Given the description of an element on the screen output the (x, y) to click on. 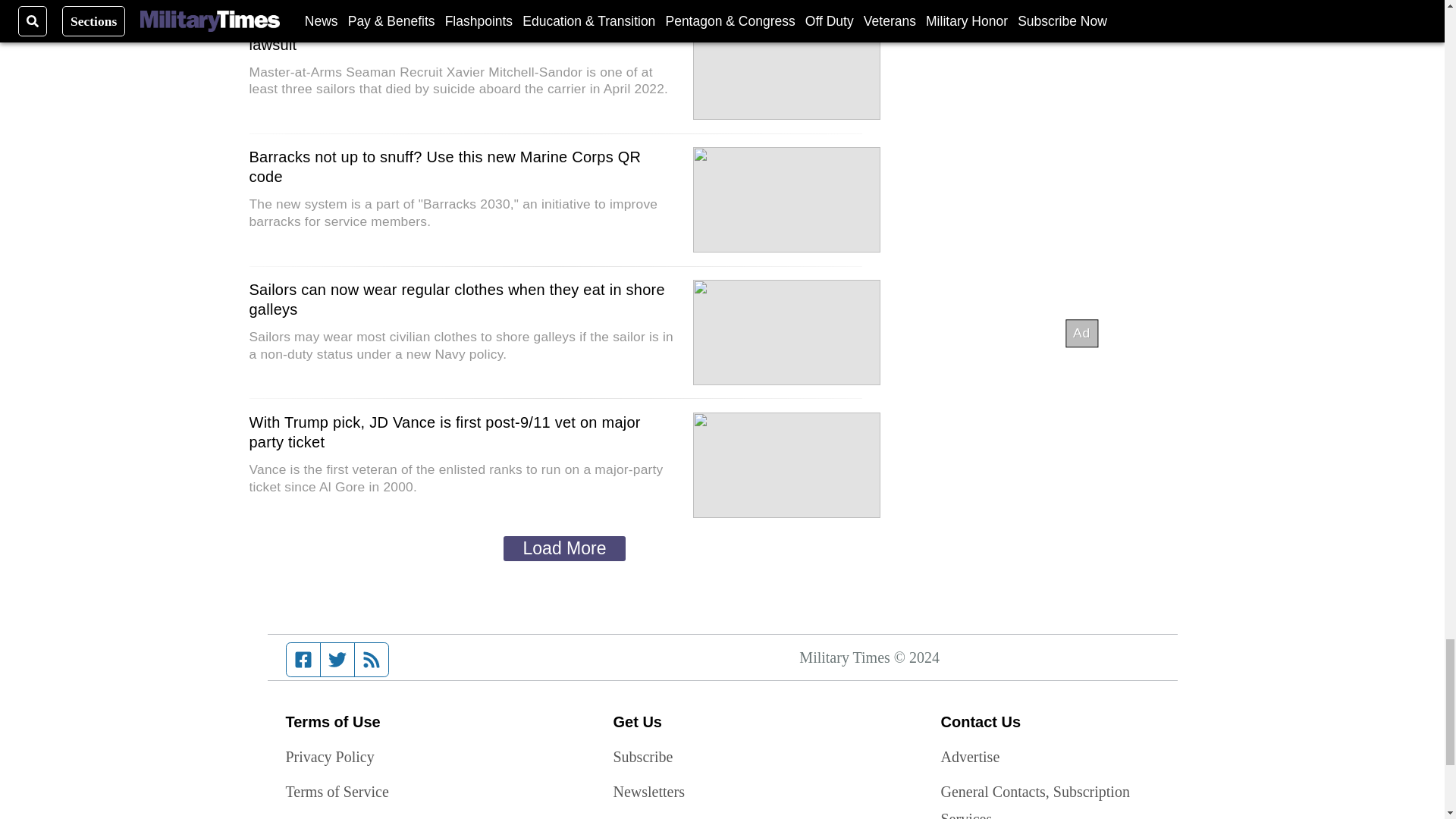
RSS feed (371, 659)
Facebook page (303, 659)
Twitter feed (336, 659)
